Given the description of an element on the screen output the (x, y) to click on. 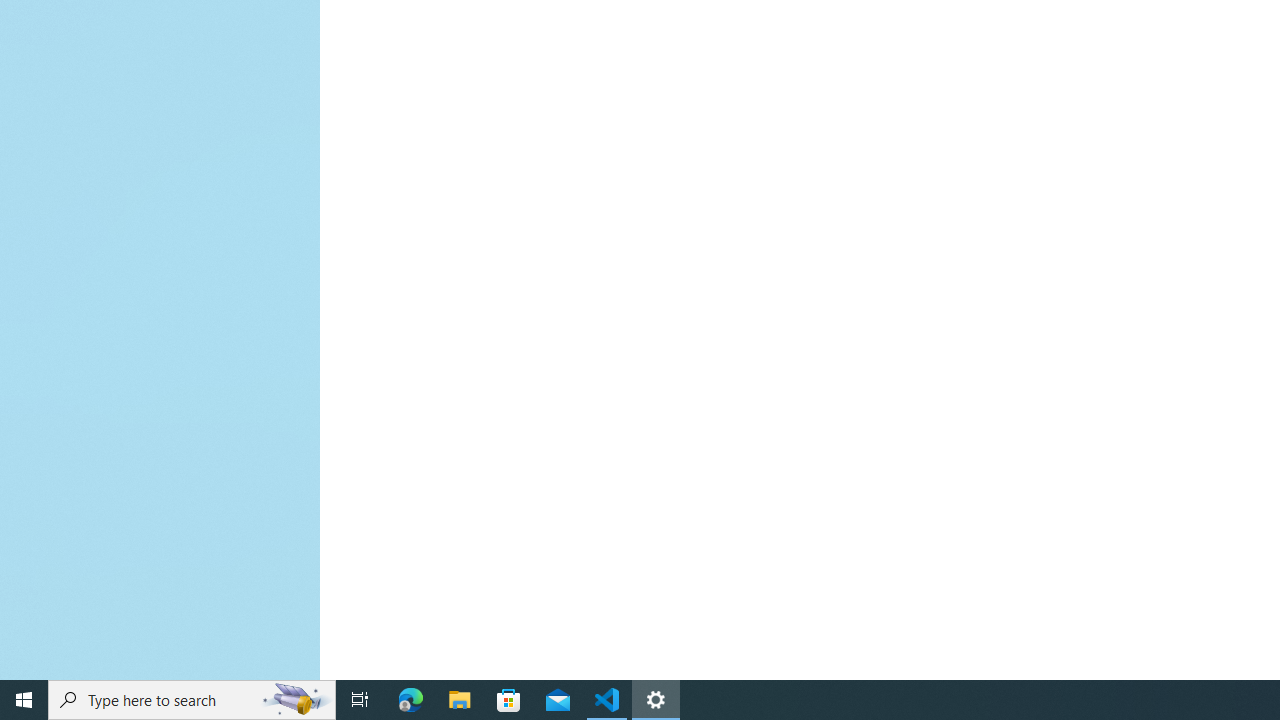
Search highlights icon opens search home window (295, 699)
File Explorer (460, 699)
Settings - 1 running window (656, 699)
Microsoft Edge (411, 699)
Type here to search (191, 699)
Microsoft Store (509, 699)
Visual Studio Code - 1 running window (607, 699)
Task View (359, 699)
